Given the description of an element on the screen output the (x, y) to click on. 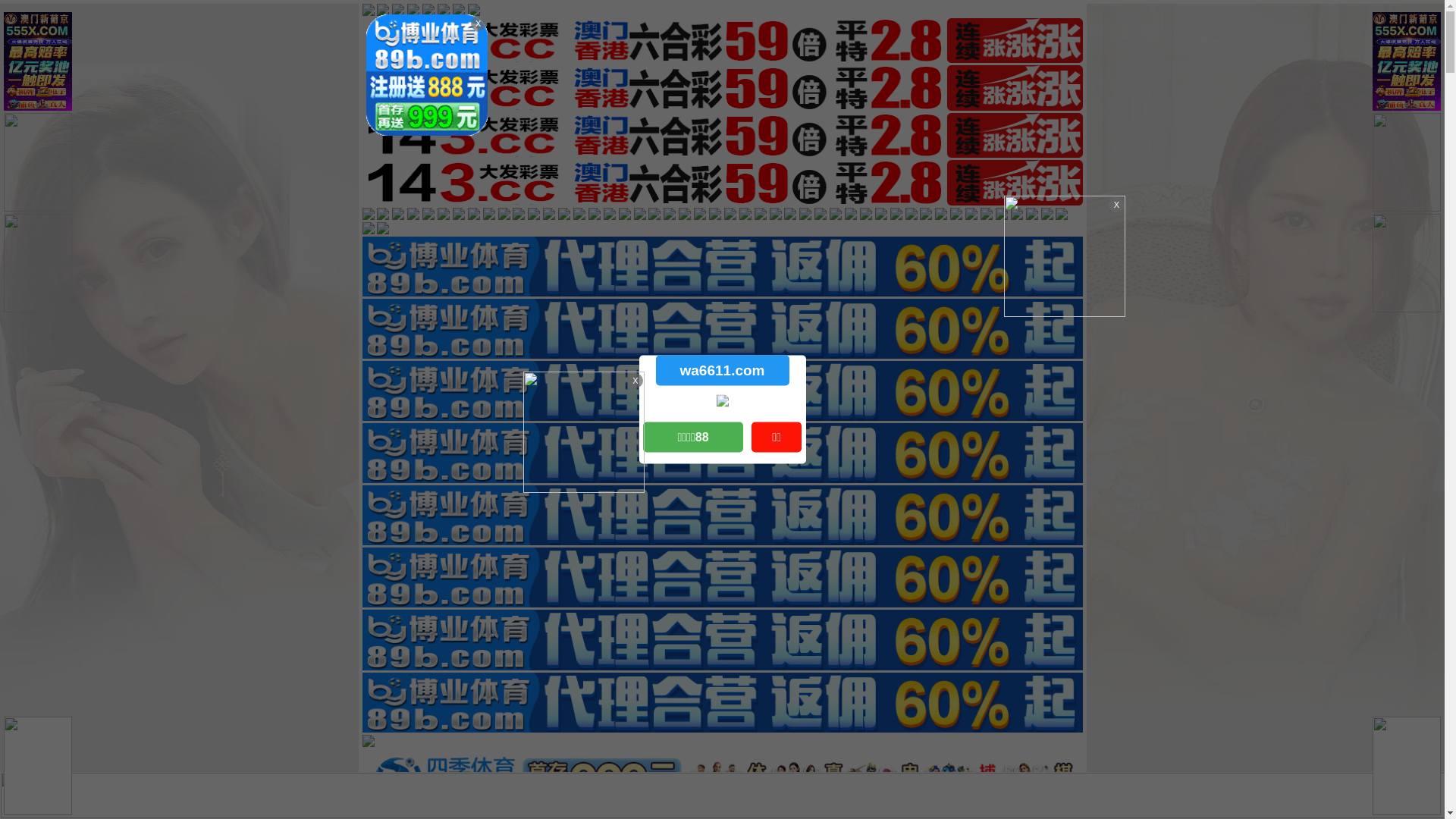
X Element type: text (1430, 789)
wa6611.com Element type: text (721, 369)
